Given the description of an element on the screen output the (x, y) to click on. 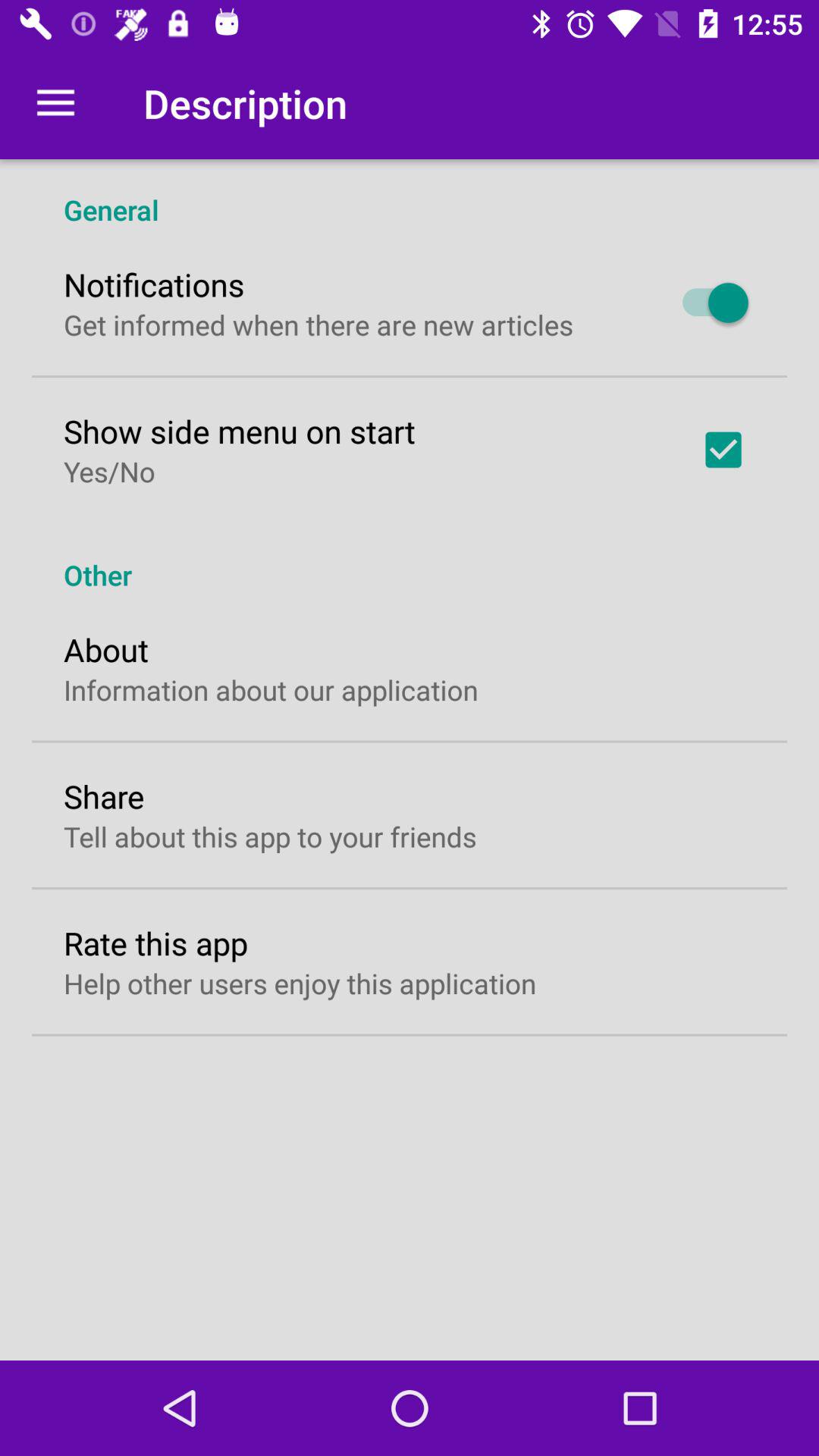
launch show side menu item (239, 430)
